Given the description of an element on the screen output the (x, y) to click on. 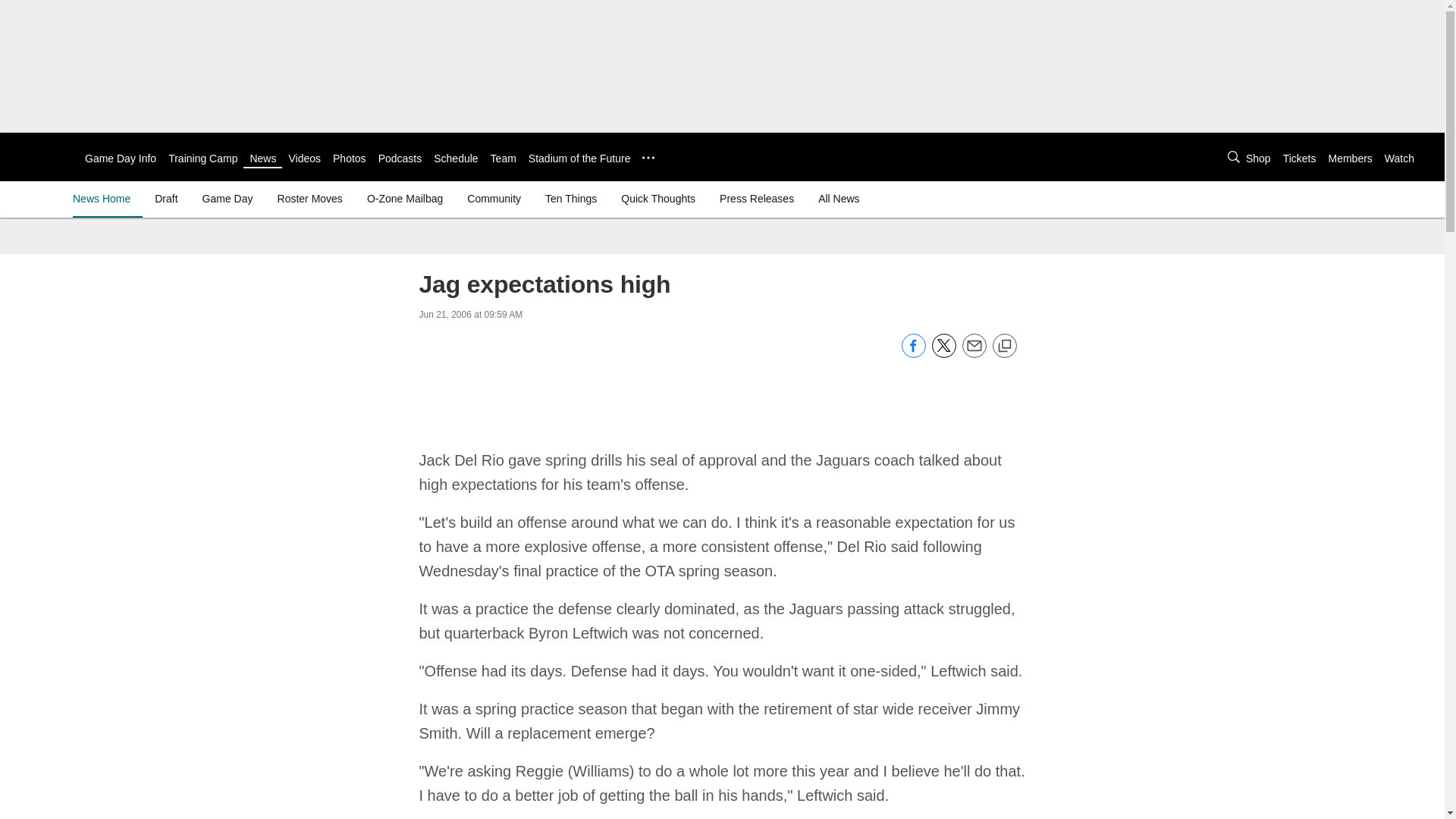
Training Camp (202, 158)
Game Day Info (119, 158)
Training Camp (202, 158)
Videos (304, 158)
Schedule (455, 158)
Photos (349, 158)
Roster Moves (309, 198)
Shop (1258, 158)
Team (503, 158)
Photos (349, 158)
